Given the description of an element on the screen output the (x, y) to click on. 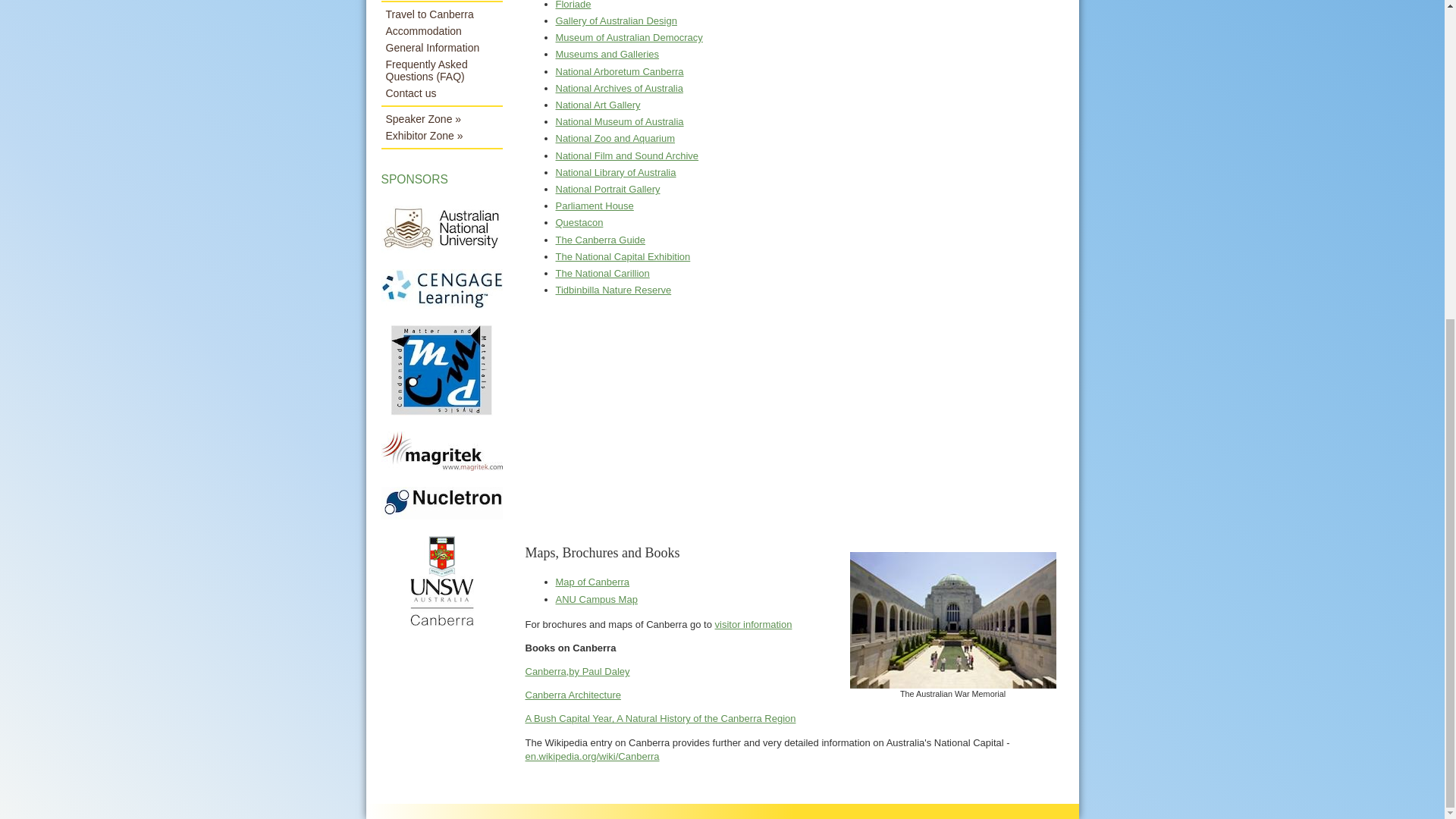
Exhibitor Zone (441, 135)
Travel to Canberra (441, 13)
Accommodation (441, 30)
General Information (441, 47)
Contact us (441, 93)
Floriade (572, 4)
Speaker Zone (441, 118)
Gallery of Australian Design (615, 20)
